Given the description of an element on the screen output the (x, y) to click on. 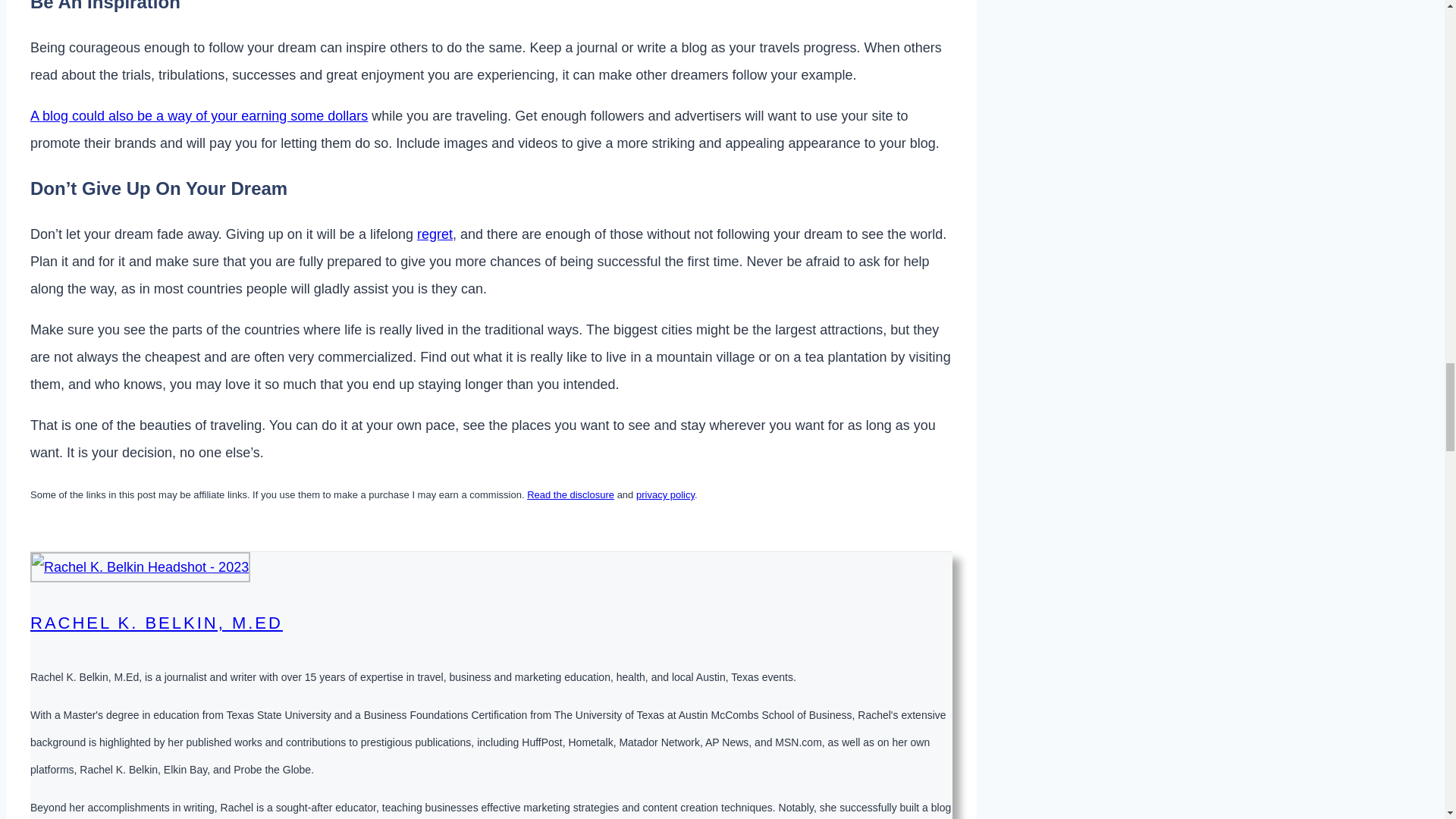
Read the disclosure (570, 494)
privacy policy (665, 494)
regret (434, 233)
RACHEL K. BELKIN, M.ED (156, 622)
A blog could also be a way of your earning some dollars (199, 115)
